Given the description of an element on the screen output the (x, y) to click on. 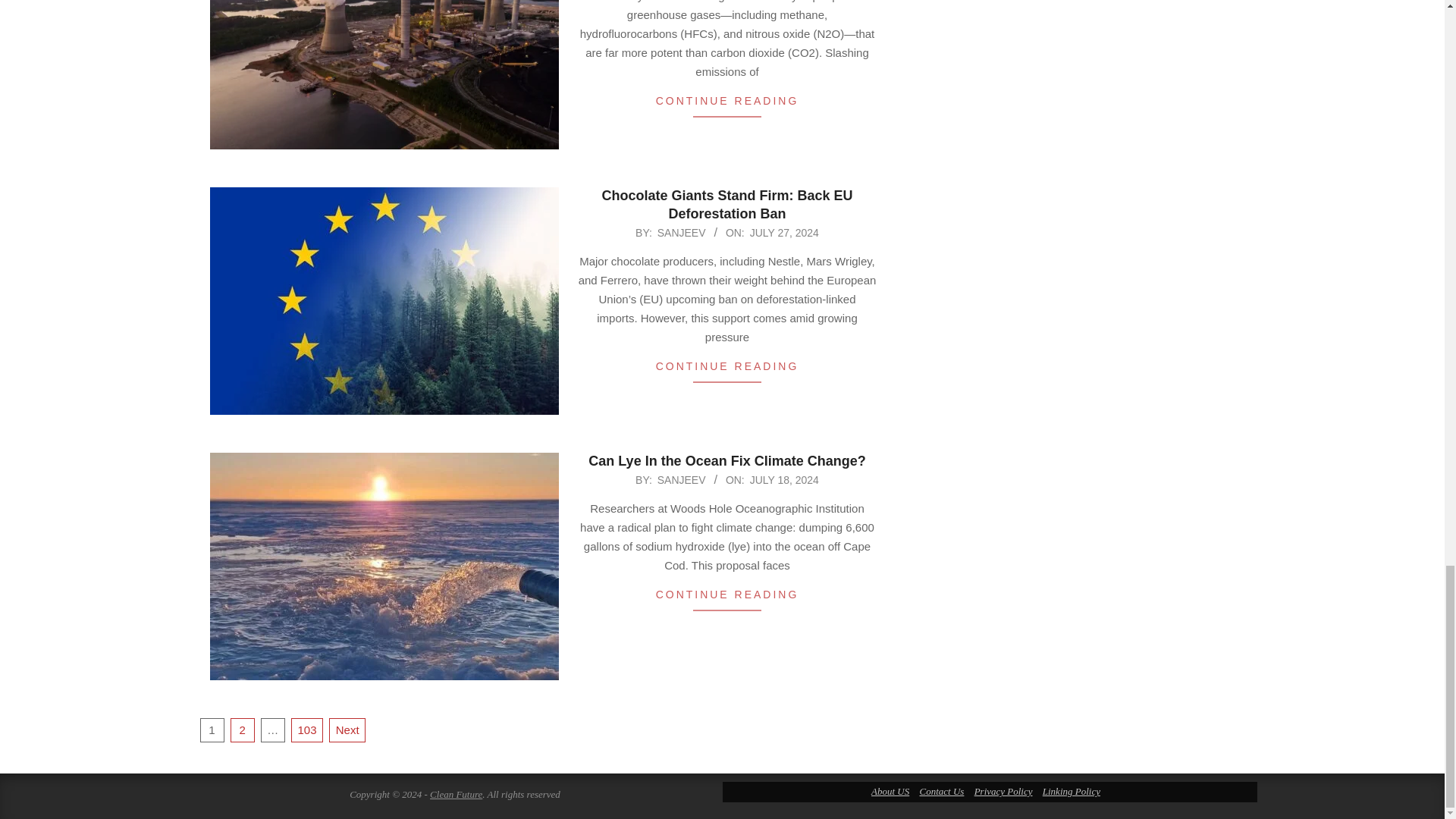
Posts by Sanjeev (682, 232)
Saturday, July 27, 2024, 1:32 pm (783, 232)
Thursday, July 18, 2024, 11:12 am (783, 480)
Posts by Sanjeev (682, 480)
